Given the description of an element on the screen output the (x, y) to click on. 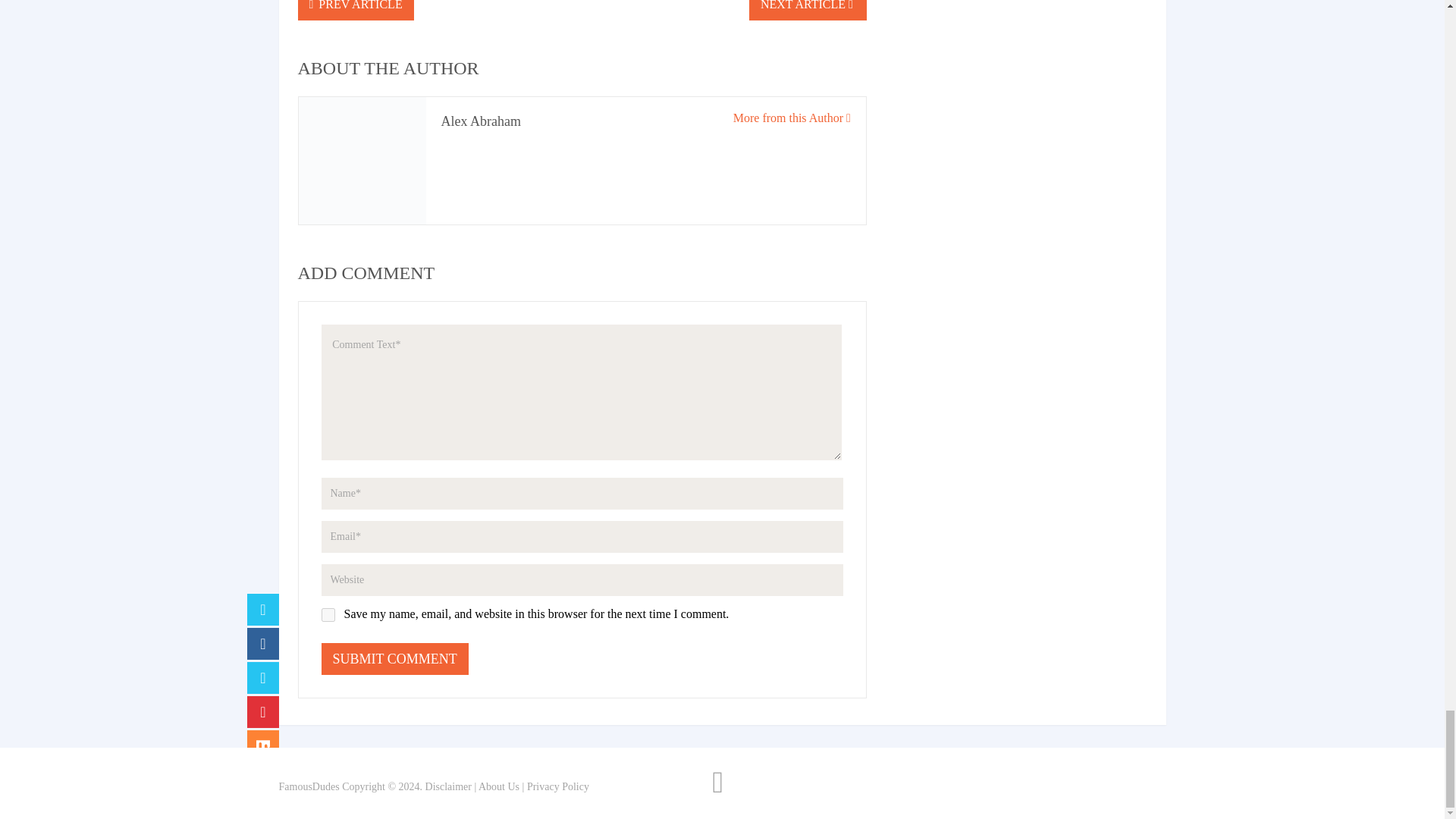
Submit Comment (394, 658)
yes (327, 614)
